Given the description of an element on the screen output the (x, y) to click on. 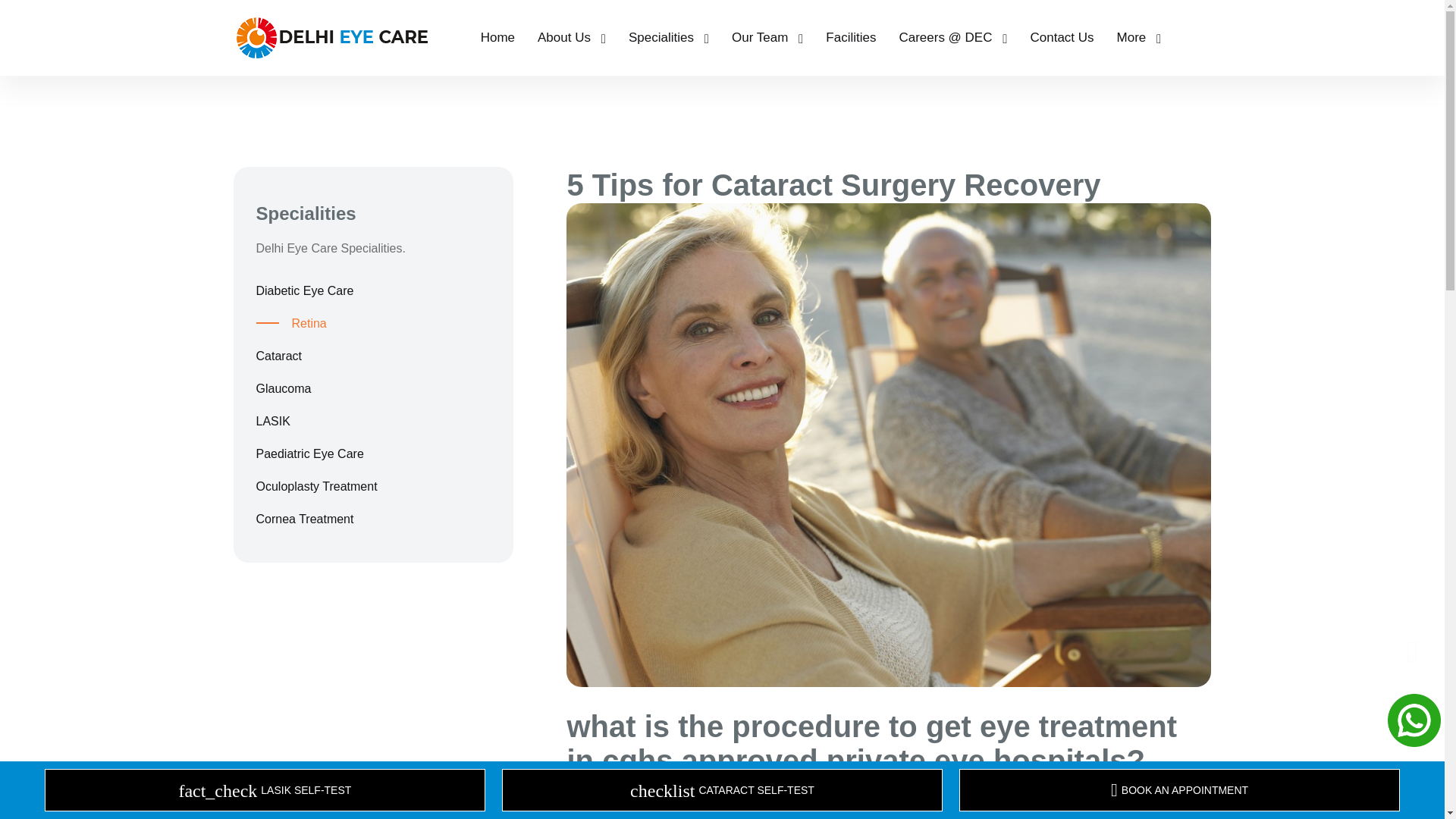
Our Team (767, 38)
More (1138, 38)
About Us (571, 38)
Facilities (850, 38)
Whatsapp Now (721, 789)
Contact Us (1061, 38)
Call us Now (264, 789)
Home (497, 38)
Specialities (668, 38)
Whatsapp Now (1414, 718)
Book an Appointment (1179, 789)
New Update (1412, 663)
